Given the description of an element on the screen output the (x, y) to click on. 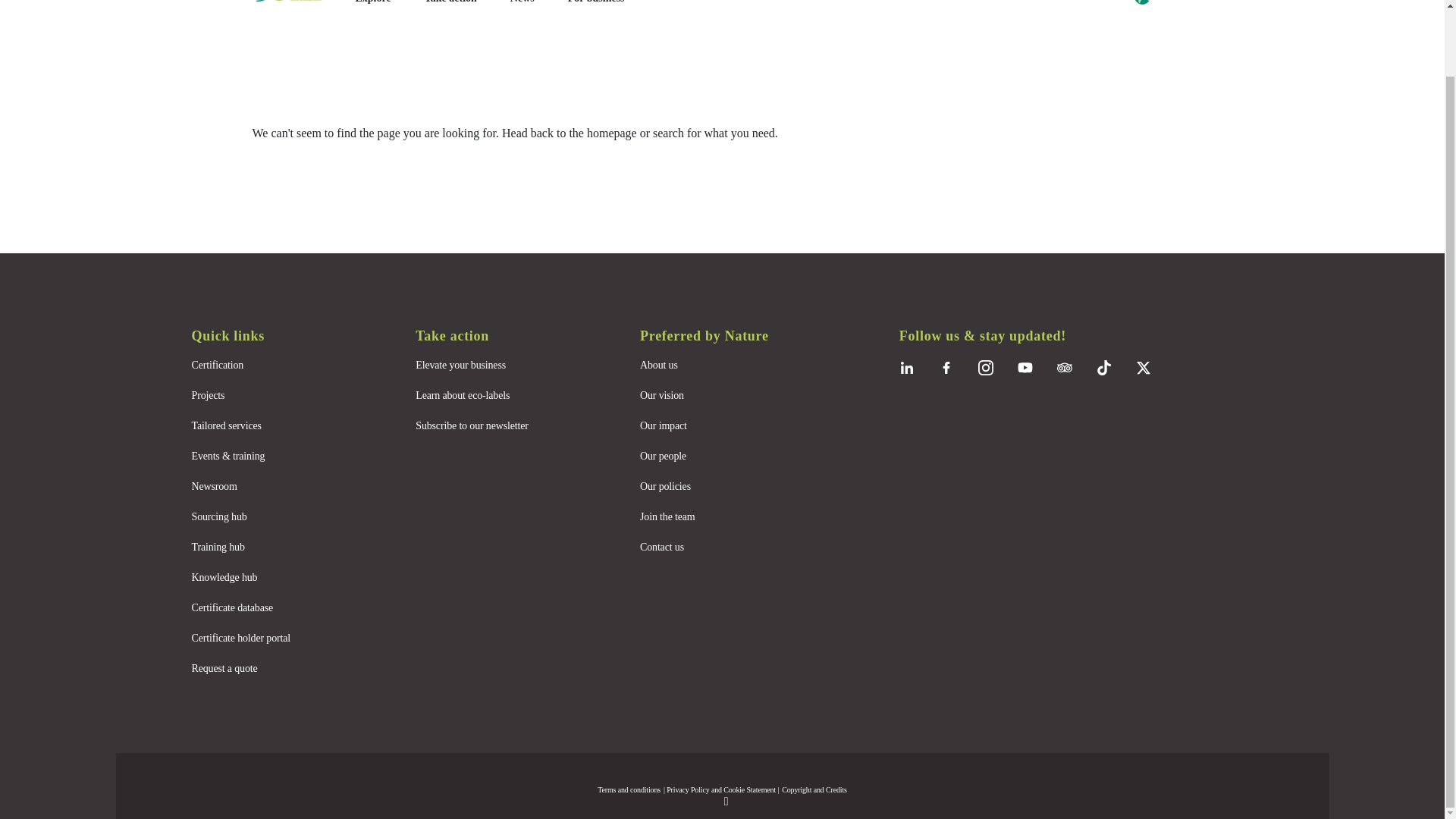
For Business (595, 2)
Home (296, 2)
